Given the description of an element on the screen output the (x, y) to click on. 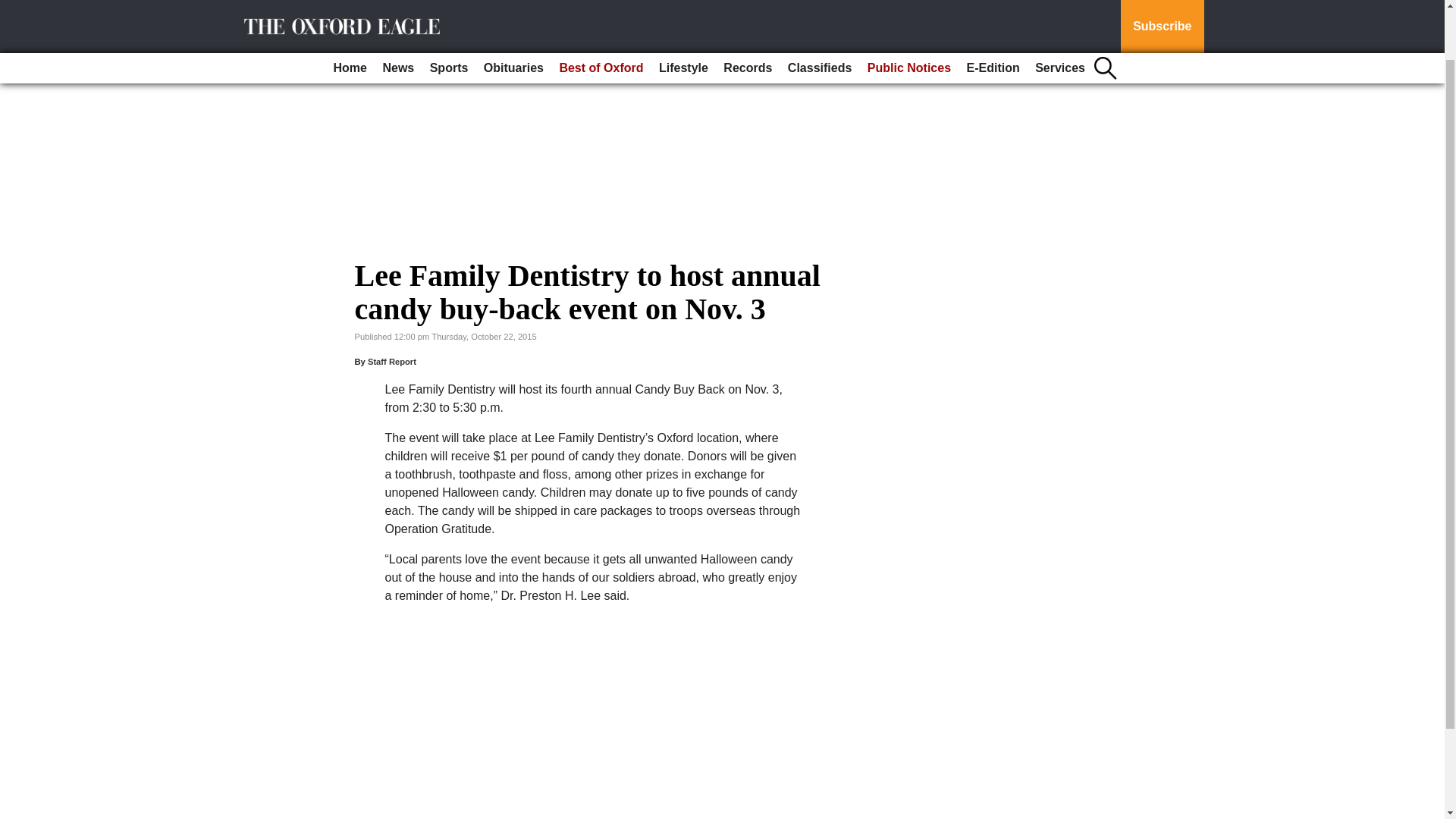
News (397, 11)
Staff Report (392, 361)
Best of Oxford (601, 11)
Lifestyle (683, 11)
Public Notices (908, 11)
E-Edition (992, 11)
Obituaries (513, 11)
Records (747, 11)
Home (349, 11)
Classifieds (819, 11)
Sports (448, 11)
Services (1059, 11)
